Given the description of an element on the screen output the (x, y) to click on. 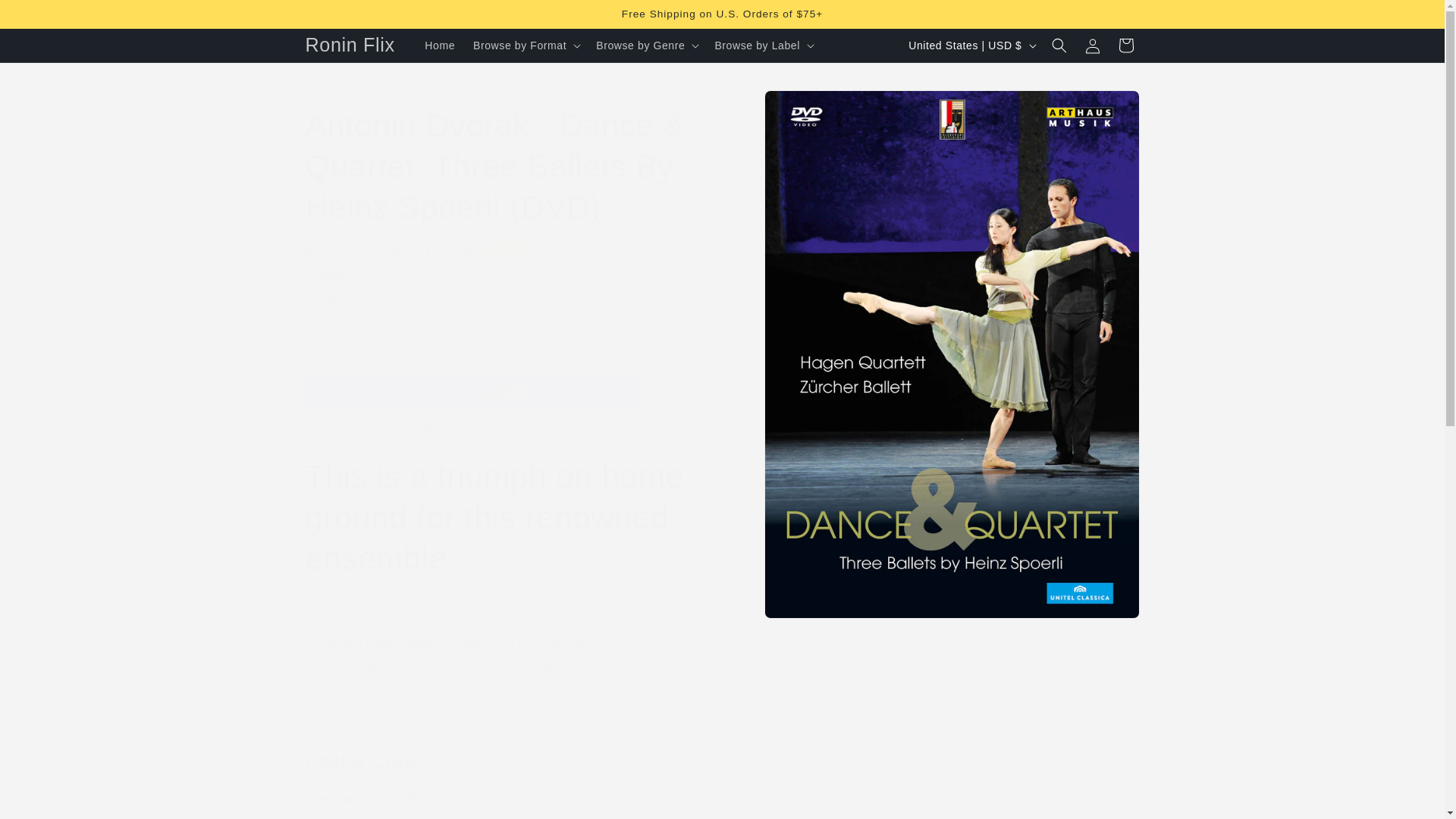
Skip to content (45, 17)
